Given the description of an element on the screen output the (x, y) to click on. 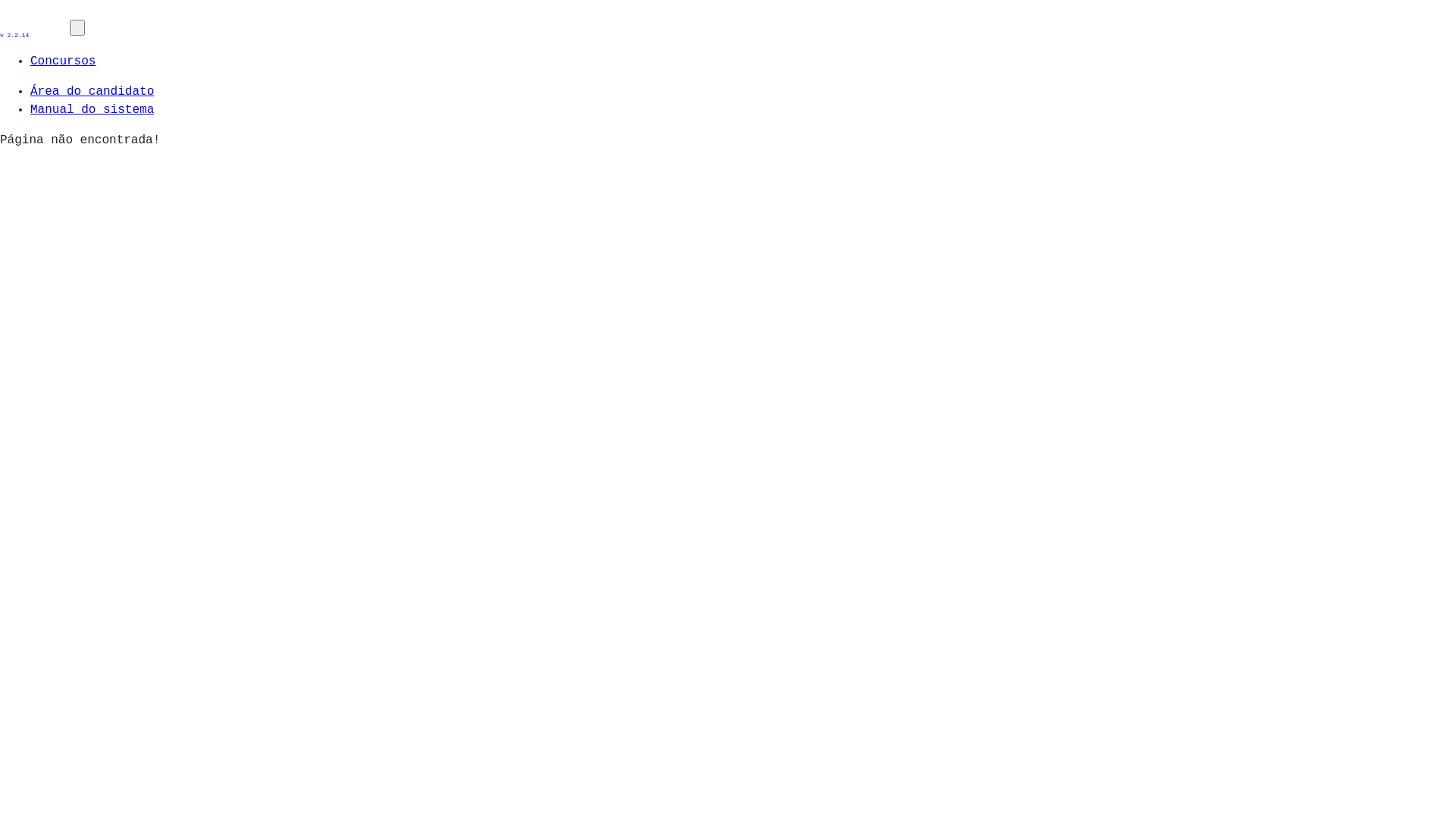
  Element type: text (76, 27)
Concursos Element type: text (62, 61)
unesp Element type: hover (34, 19)
Manual do sistema Element type: text (91, 109)
v 2.2.14 Element type: text (34, 27)
